Given the description of an element on the screen output the (x, y) to click on. 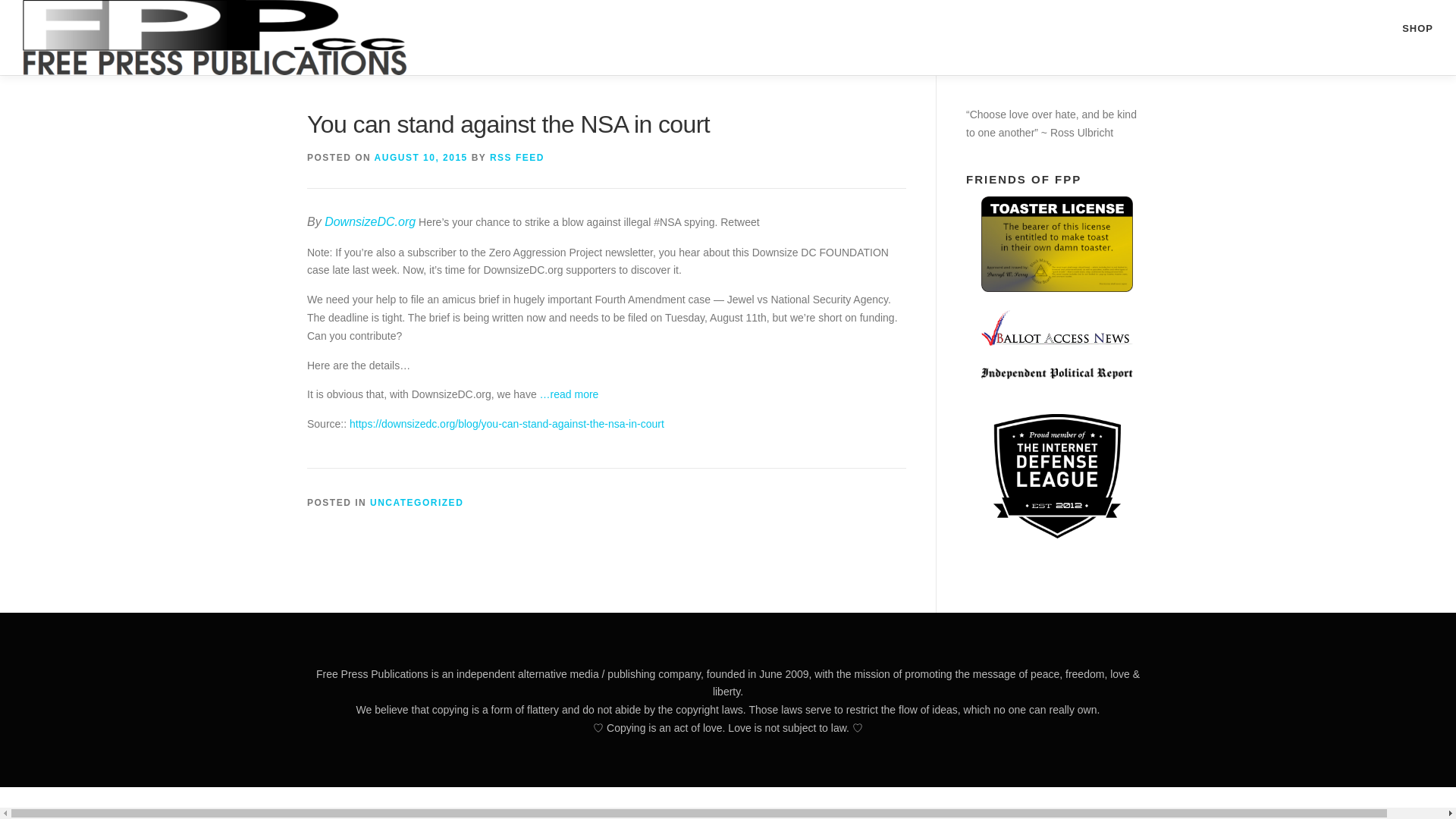
DownsizeDC.org (369, 221)
AUGUST 10, 2015 (420, 157)
UNCATEGORIZED (416, 502)
RSS FEED (516, 157)
You can stand against the NSA in court (506, 423)
SHOP (728, 37)
